Given the description of an element on the screen output the (x, y) to click on. 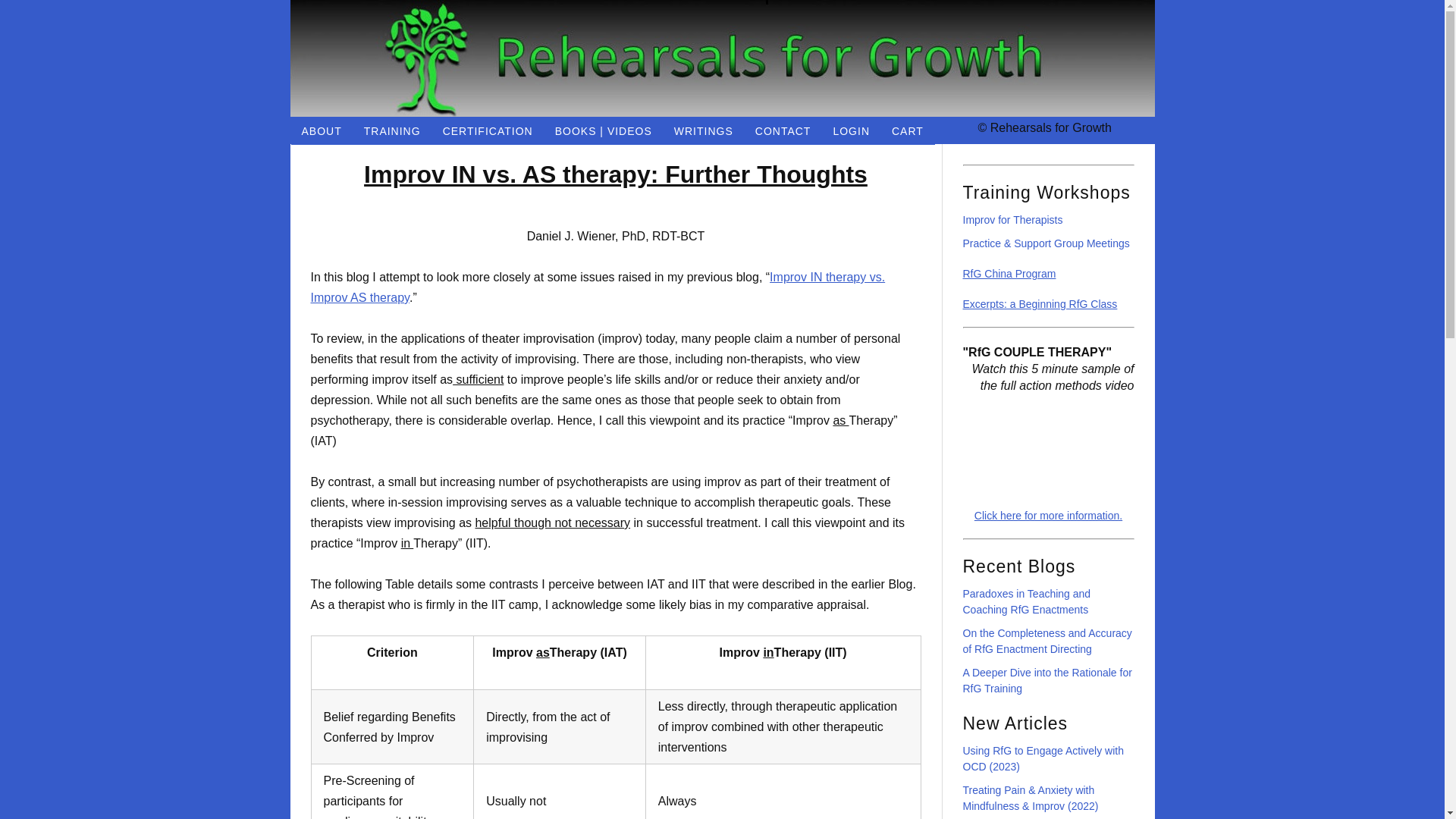
Improv IN therapy vs. Improv AS therapy (598, 287)
Read Improv for Therapists (1012, 219)
CERTIFICATION (488, 130)
CONTACT (783, 130)
ABOUT (322, 130)
Paradoxes in Teaching and Coaching RfG Enactments (1026, 601)
Excerpts: a Beginning RfG Class (1040, 304)
Click here for more information. (1048, 515)
Read Paradoxes in Teaching and Coaching RfG Enactments (1026, 601)
Improv for Therapists (1012, 219)
Read A Deeper Dive into the Rationale for RfG Training (1047, 680)
LOGIN (851, 130)
TRAINING (392, 130)
RfG China Program (1009, 273)
